Given the description of an element on the screen output the (x, y) to click on. 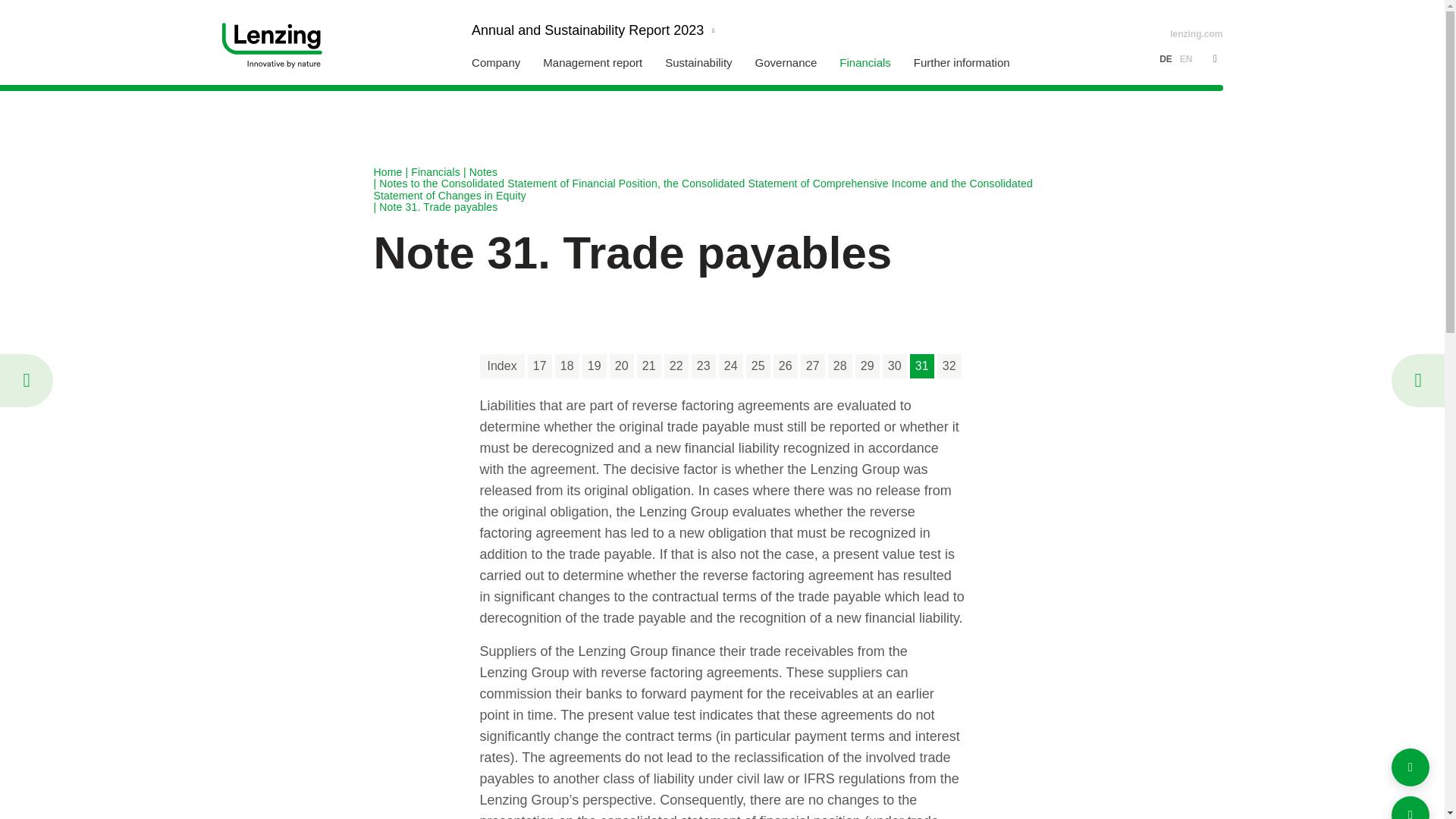
19. Biological assets (594, 365)
21. Investments accounted for using the equity method (649, 365)
23. Inventories (703, 365)
Management report (592, 52)
17. Intangible assets (539, 365)
30. Provisions (894, 365)
31. Trade payables (922, 365)
28. Financial liabilities (839, 365)
26. Equity (785, 365)
Company (495, 52)
20. Right-of-use assets (621, 365)
18. Property, plant and equipment (566, 365)
24. Trade receivables (730, 365)
22. Financial assets (675, 365)
25. Other assets (757, 365)
